Given the description of an element on the screen output the (x, y) to click on. 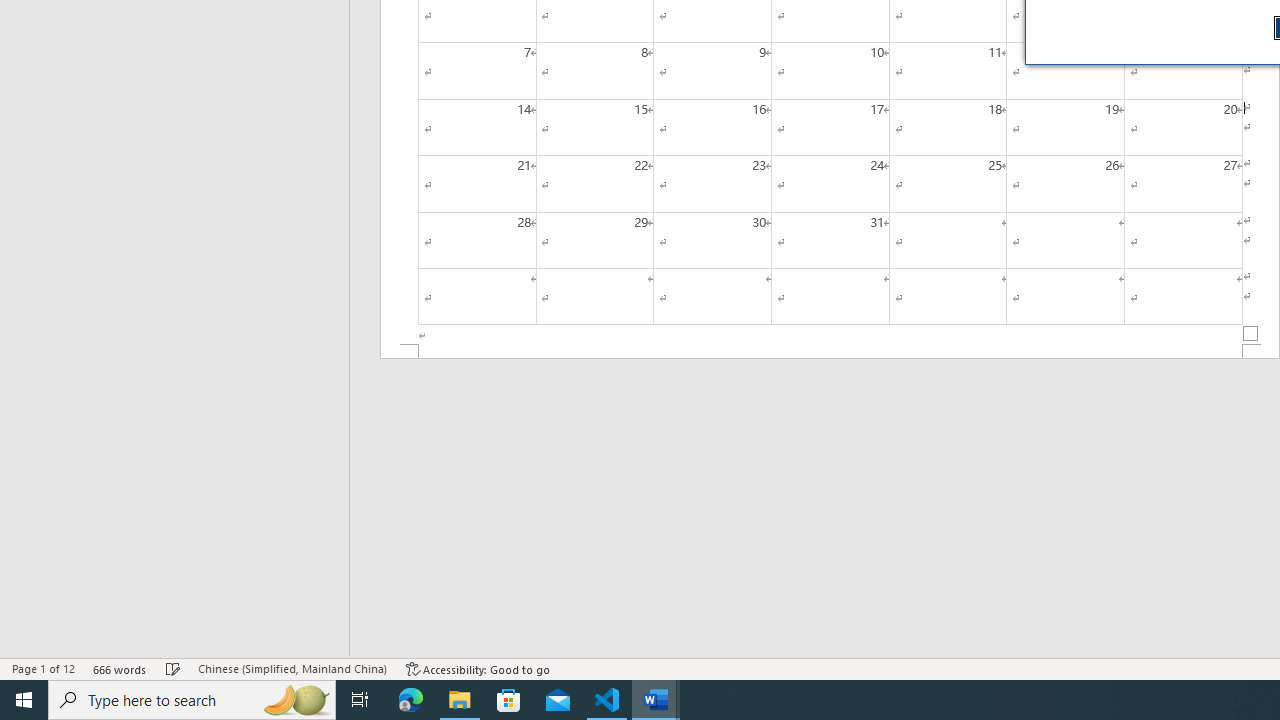
Language Chinese (Simplified, Mainland China) (292, 668)
Microsoft Edge (411, 699)
